Given the description of an element on the screen output the (x, y) to click on. 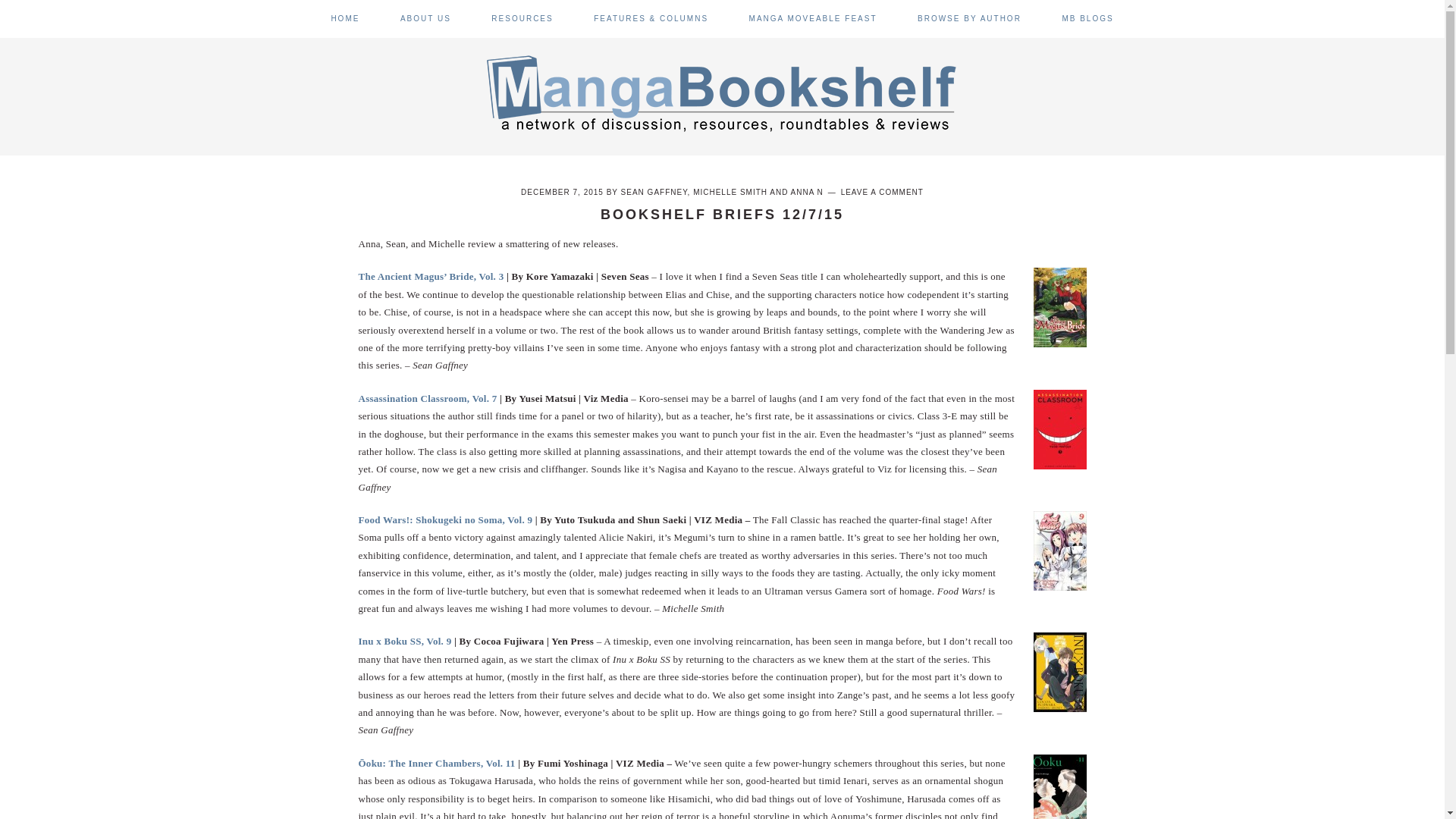
MANGA MOVEABLE FEAST (813, 18)
Posts by Michelle Smith (730, 192)
Posts by Sean Gaffney (654, 192)
RESOURCES (521, 18)
HOME (344, 18)
ABOUT US (425, 18)
Posts by Anna N (807, 192)
